Given the description of an element on the screen output the (x, y) to click on. 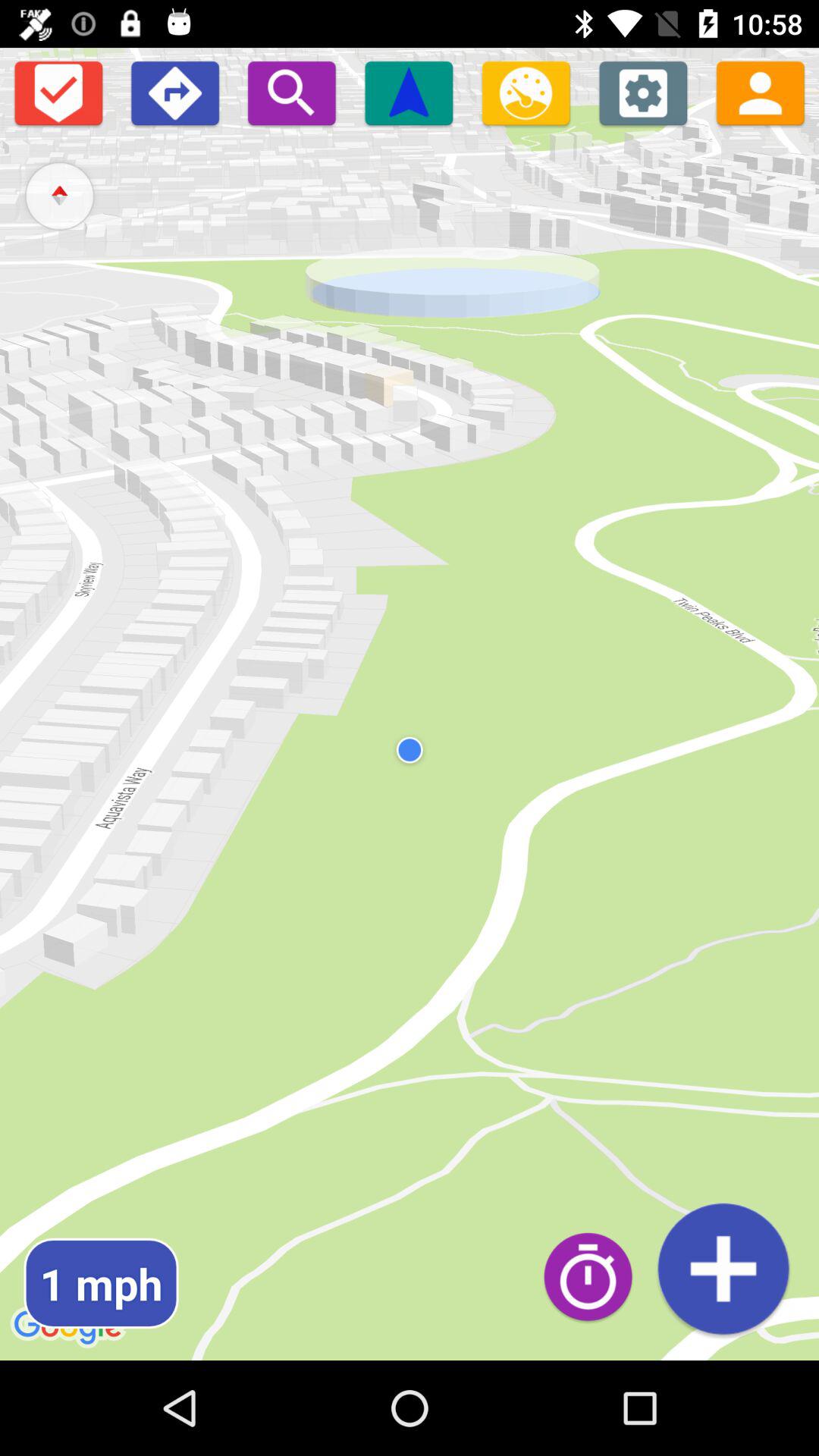
timer toggle (595, 1276)
